Given the description of an element on the screen output the (x, y) to click on. 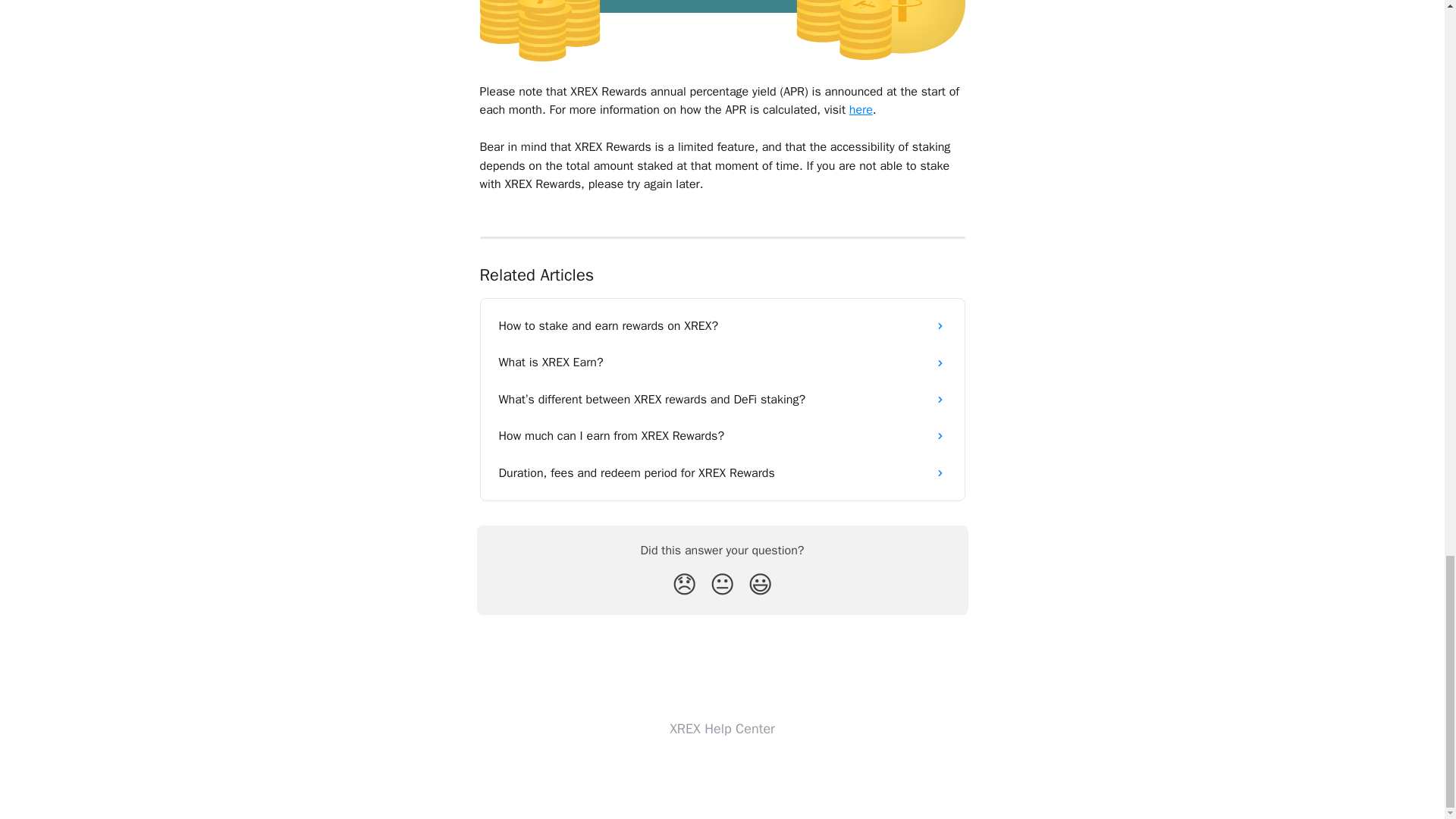
What is XREX Earn? (722, 361)
Duration, fees and redeem period for XREX Rewards (722, 473)
How much can I earn from XREX Rewards? (722, 435)
How to stake and earn rewards on XREX? (722, 325)
here (860, 109)
XREX Help Center (721, 728)
